Given the description of an element on the screen output the (x, y) to click on. 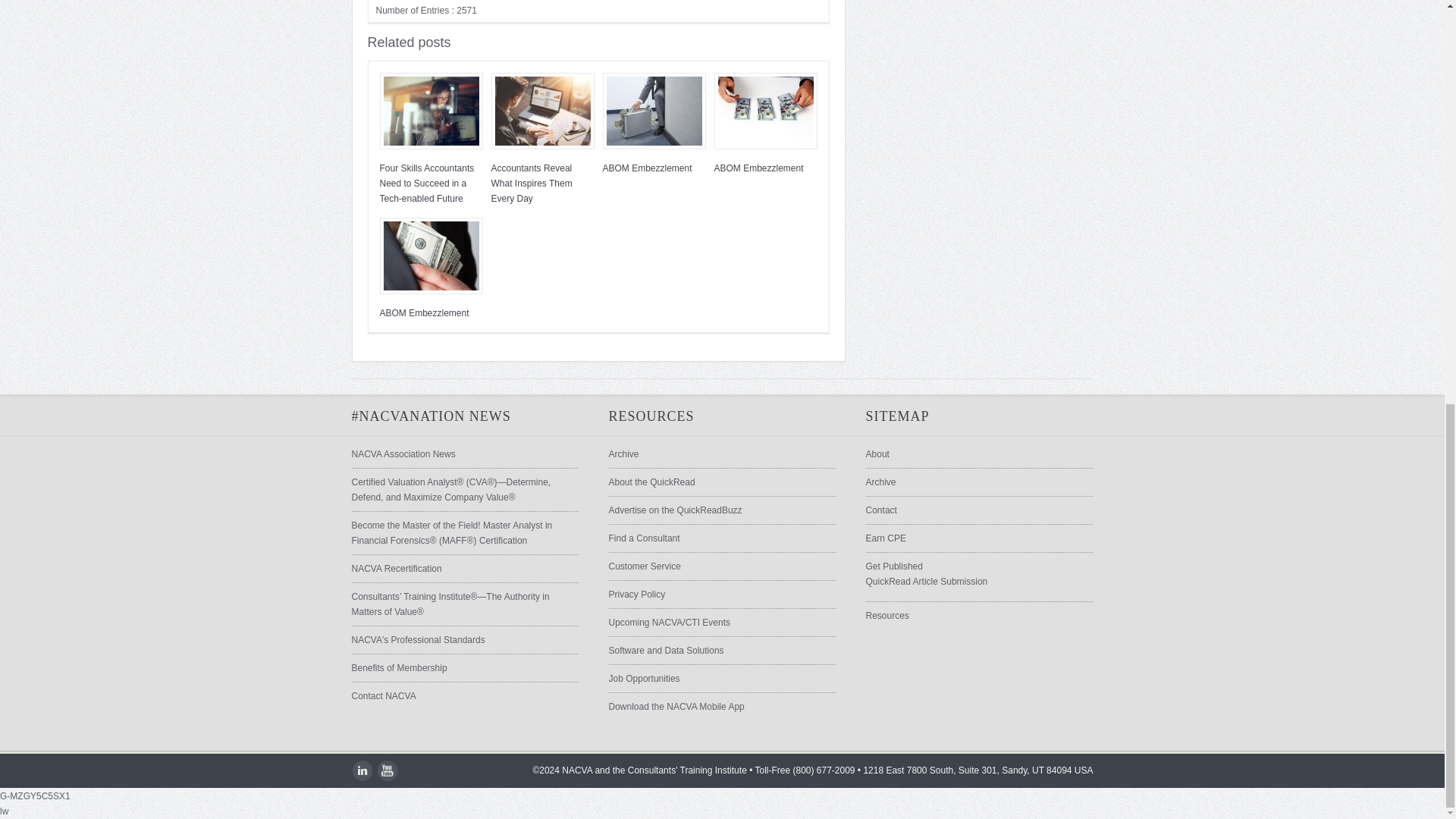
ABOM Embezzlement (765, 110)
ABOM Embezzlement (429, 255)
Accountants Reveal What Inspires Them Every Day (543, 110)
ABOM Embezzlement (653, 110)
